Given the description of an element on the screen output the (x, y) to click on. 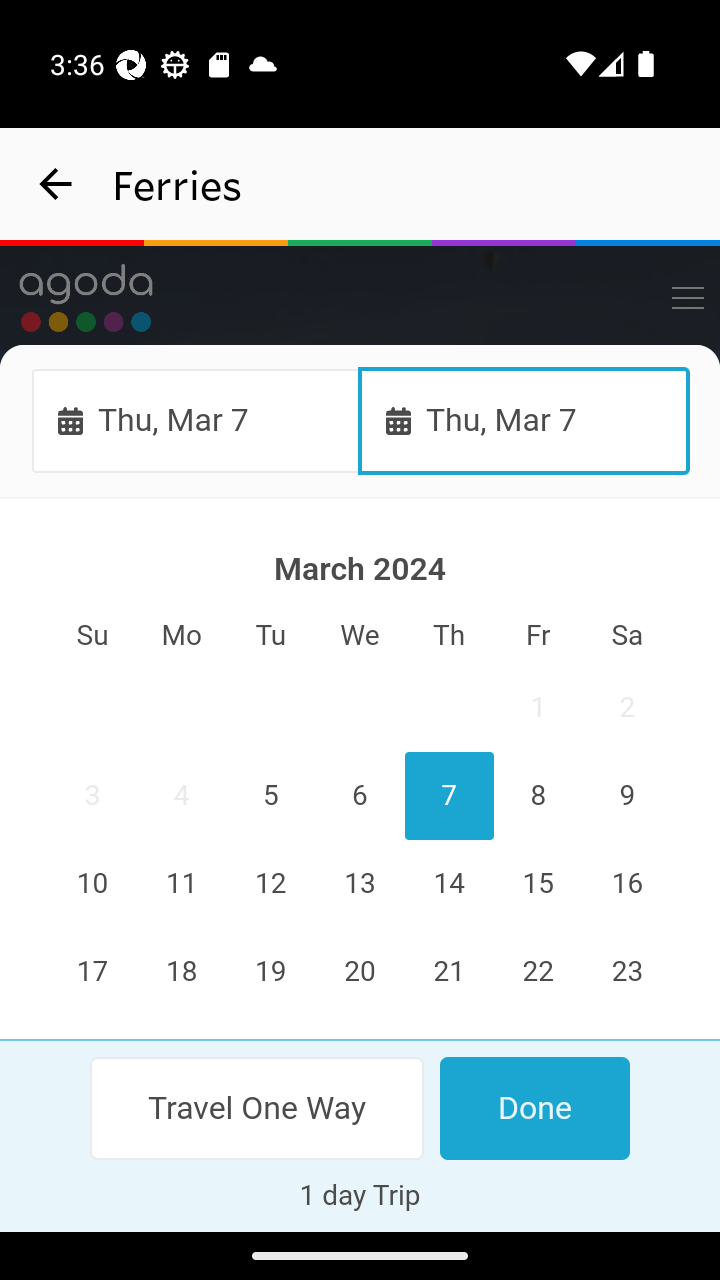
navigation_button (56, 184)
Thu, Mar 7 (195, 420)
Thu, Mar 7 (524, 420)
1 (537, 708)
2 (626, 708)
3 (93, 797)
4 (182, 797)
5 (271, 797)
6 (359, 797)
7 (448, 797)
8 (537, 797)
9 (626, 797)
10 (93, 884)
11 (182, 884)
12 (271, 884)
13 (359, 884)
14 (448, 884)
15 (537, 884)
16 (626, 884)
17 (93, 972)
18 (182, 972)
19 (271, 972)
20 (359, 972)
21 (448, 972)
22 (537, 972)
23 (626, 972)
Travel One Way (258, 1107)
Done (534, 1107)
